Given the description of an element on the screen output the (x, y) to click on. 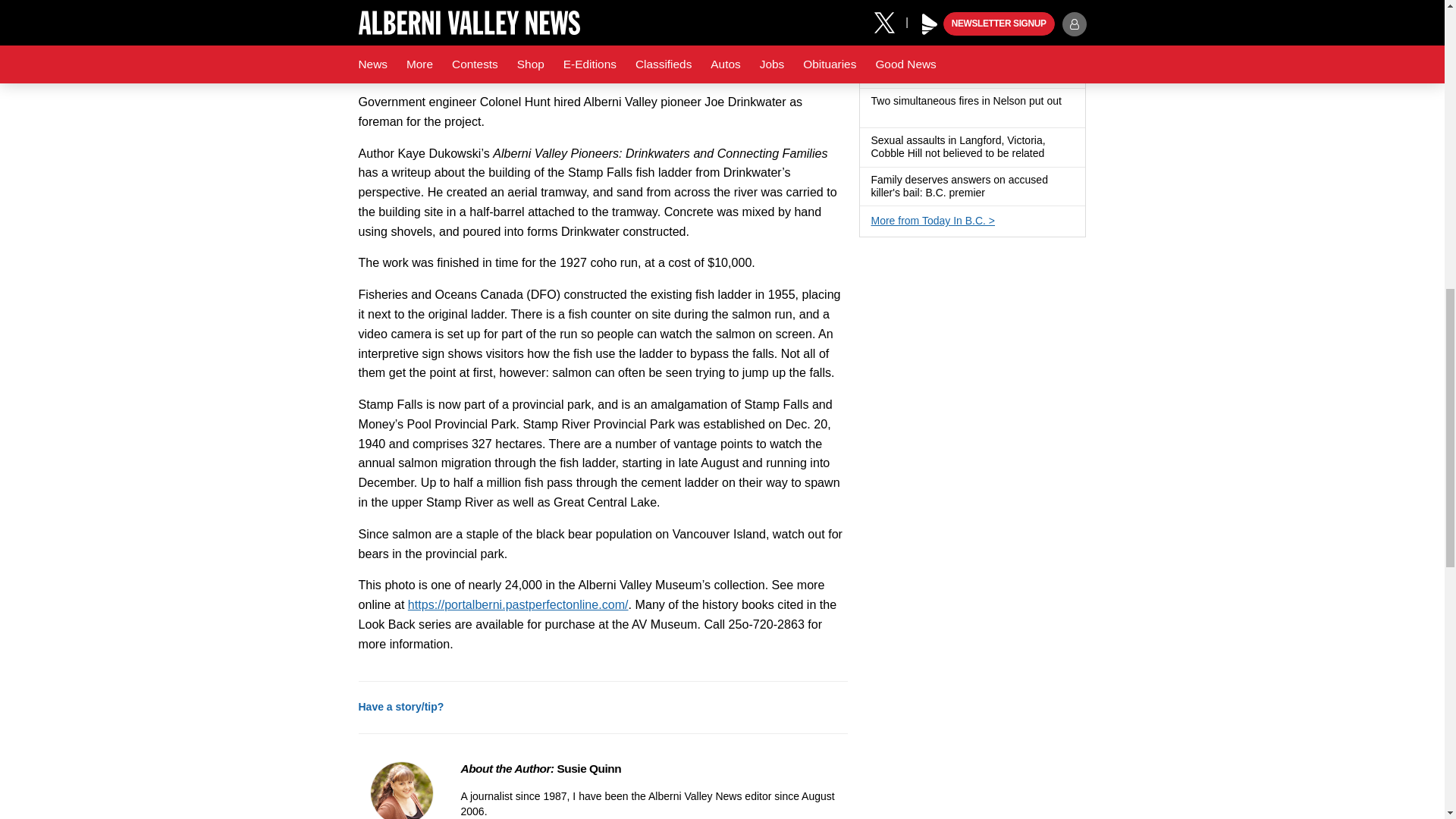
Has a gallery (876, 114)
